Given the description of an element on the screen output the (x, y) to click on. 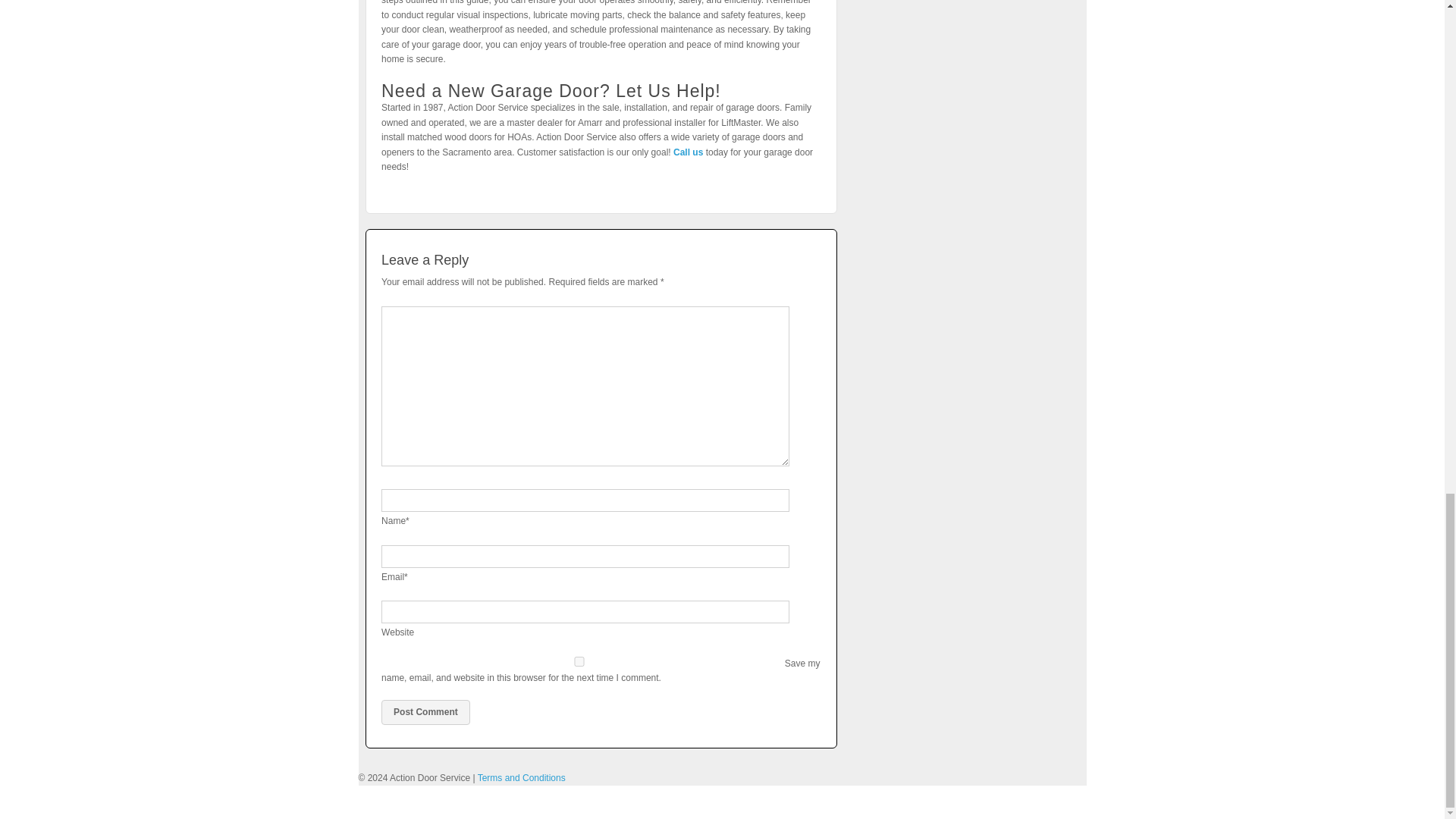
Post Comment (425, 712)
yes (579, 661)
Pin It on Pinterest (397, 182)
Call us (687, 152)
Post Comment (425, 712)
Terms and Conditions (521, 777)
